Given the description of an element on the screen output the (x, y) to click on. 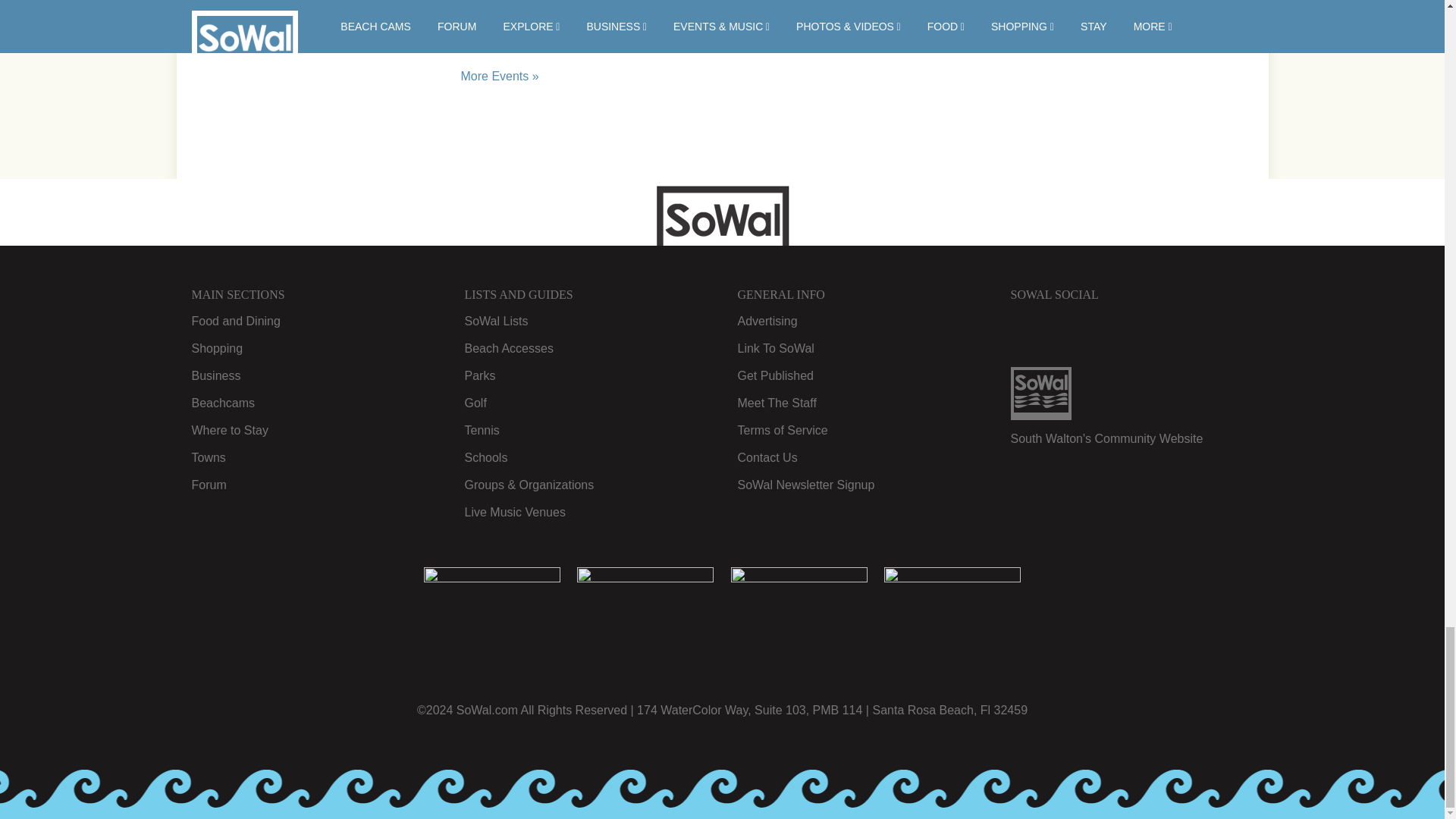
events page (499, 75)
